Given the description of an element on the screen output the (x, y) to click on. 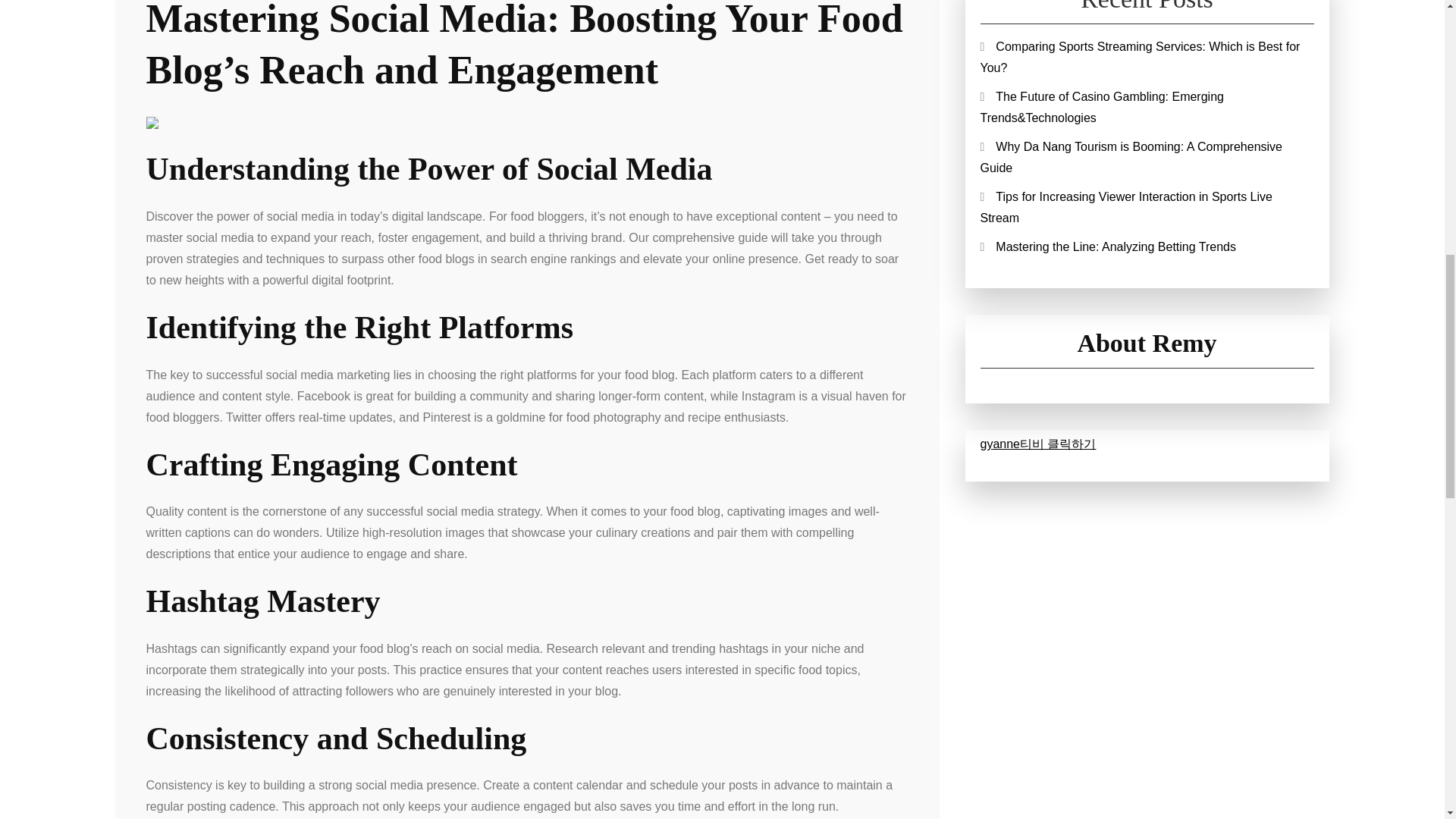
Tips for Increasing Viewer Interaction in Sports Live Stream (1125, 207)
Mastering the Line: Analyzing Betting Trends (1115, 246)
Comparing Sports Streaming Services: Which is Best for You? (1139, 57)
Why Da Nang Tourism is Booming: A Comprehensive Guide (1130, 157)
